Given the description of an element on the screen output the (x, y) to click on. 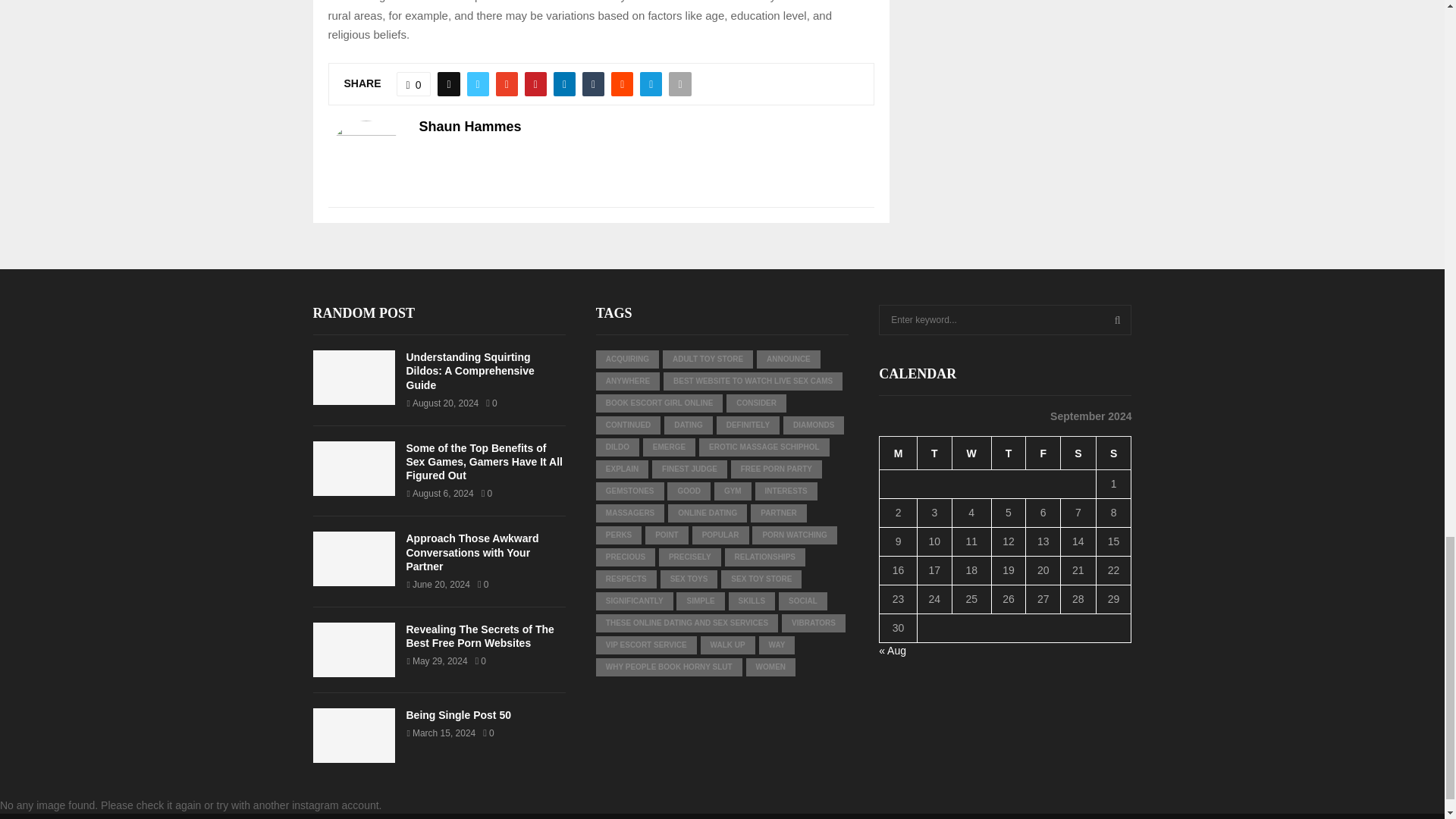
Posts by Shaun Hammes (470, 126)
Shaun Hammes (470, 126)
Like (413, 84)
0 (413, 84)
